Given the description of an element on the screen output the (x, y) to click on. 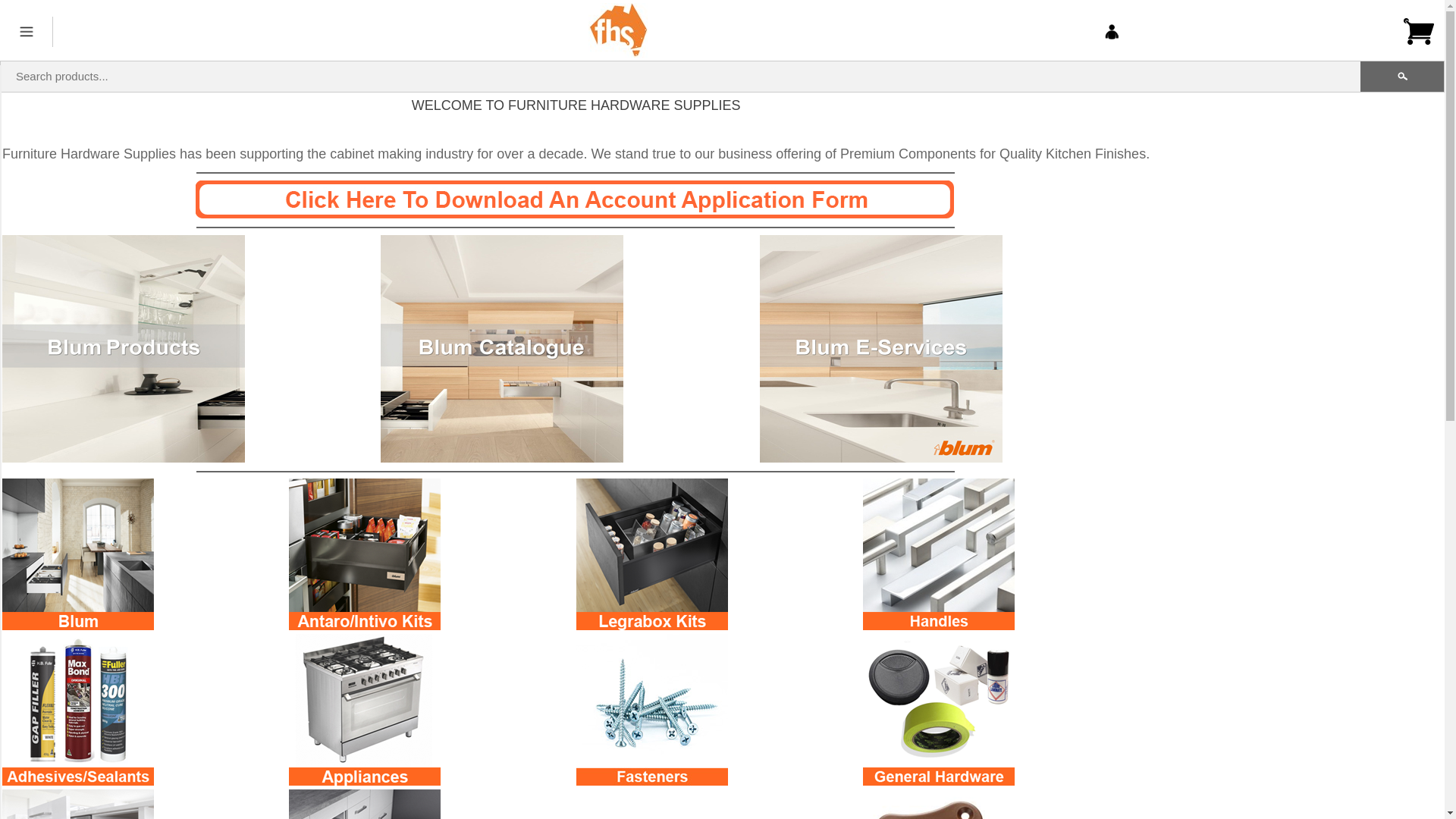
Clearance Sale Element type: text (7, 757)
Tools and Accessories Element type: text (7, 682)
Sliding Door Systems Element type: text (7, 517)
Appliances Element type: text (7, 331)
Lighting Element type: text (7, 481)
Adhesives and Sealants Element type: text (7, 295)
Wardrobe Fittings Element type: text (7, 722)
Blum Merivobox Kits Element type: text (7, 166)
Blum Products Element type: text (7, 83)
Kitchen Accessories Element type: text (7, 449)
Rail and Edging Element type: text (7, 639)
Blum Antaro Kits Element type: text (7, 122)
Search Element type: text (1401, 76)
Blum LEGRABOX Kits Element type: text (7, 209)
Fasteners, Fixings and Catches Element type: text (7, 370)
Specials Element type: text (7, 789)
Drawers and Runners Element type: text (7, 596)
General Hardware Element type: text (7, 414)
Handles and Knobs Element type: text (7, 252)
Toilet Partitioning Element type: text (7, 556)
